Given the description of an element on the screen output the (x, y) to click on. 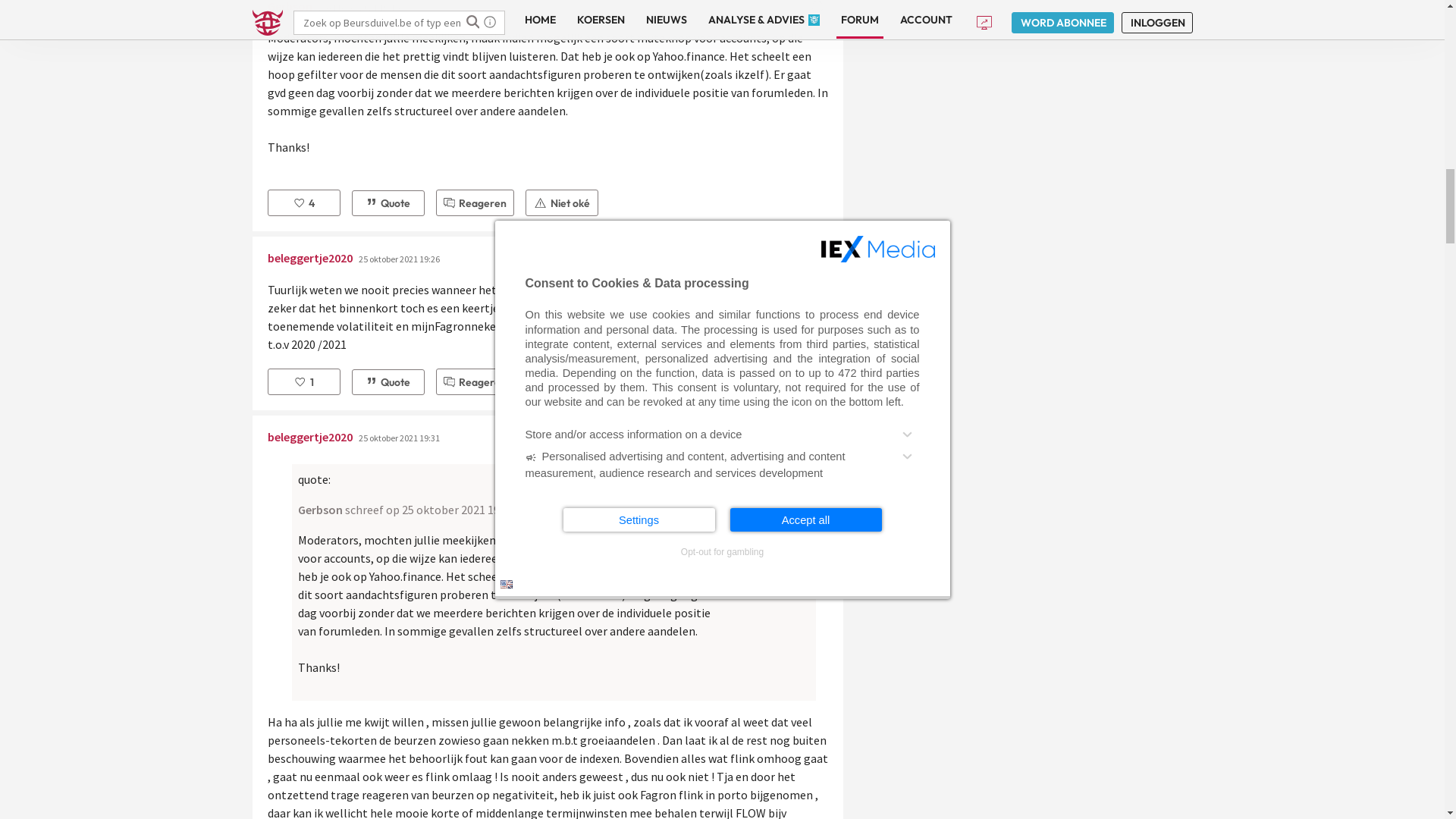
UK100 Element type: text (430, 12)
230 Element type: text (680, 498)
FORUM Element type: text (752, 414)
1 Element type: text (601, 498)
KOERSHISTORIE Element type: text (476, 414)
Reageren Element type: text (474, 671)
auteur info Element type: text (817, 569)
WTI Element type: text (1069, 12)
Aanbevelingen
0 Element type: text (302, 671)
KERNCIJFERS Element type: text (564, 414)
auteur info Element type: text (817, 730)
HOME Element type: text (263, 302)
NAAR HOOFDINHOUD Element type: text (12, 21)
EUR/USD Element type: text (1338, 12)
ADVIES Element type: text (347, 414)
BTC/USD Element type: text (1238, 12)
Laatste Element type: text (775, 498)
PROFIEL Element type: text (694, 414)
FLOW TRADERS Element type: text (352, 302)
silverwheaton Element type: text (304, 726)
beleggertje2020 Element type: text (308, 565)
285 Element type: text (728, 498)
NIEUWS Element type: text (402, 414)
227 Element type: text (625, 498)
229 Element type: text (661, 498)
Japan225^ Element type: text (897, 12)
US30^ Element type: text (518, 12)
228 Element type: text (643, 498)
MEER INFORMATIE Element type: text (1015, 646)
OVERZICHT Element type: text (282, 414)
OPTIES Element type: text (864, 414)
Nasd100^ Element type: text (621, 12)
Germany40^ Element type: text (253, 12)
AGENDA Element type: text (635, 414)
Gold spot Element type: text (988, 12)
231 Element type: text (698, 498)
TURBO'S Element type: text (809, 414)
FORUM Element type: text (299, 302)
US500^ Element type: text (800, 12)
BEL 20 Element type: text (67, 12)
Europe50^ Element type: text (347, 12)
+ TOEVOEGEN AAN WATCHLIST Element type: text (1104, 335)
AEX Element type: text (149, 12)
INLOGGEN Element type: text (916, 646)
Brent Element type: text (1151, 12)
